Given the description of an element on the screen output the (x, y) to click on. 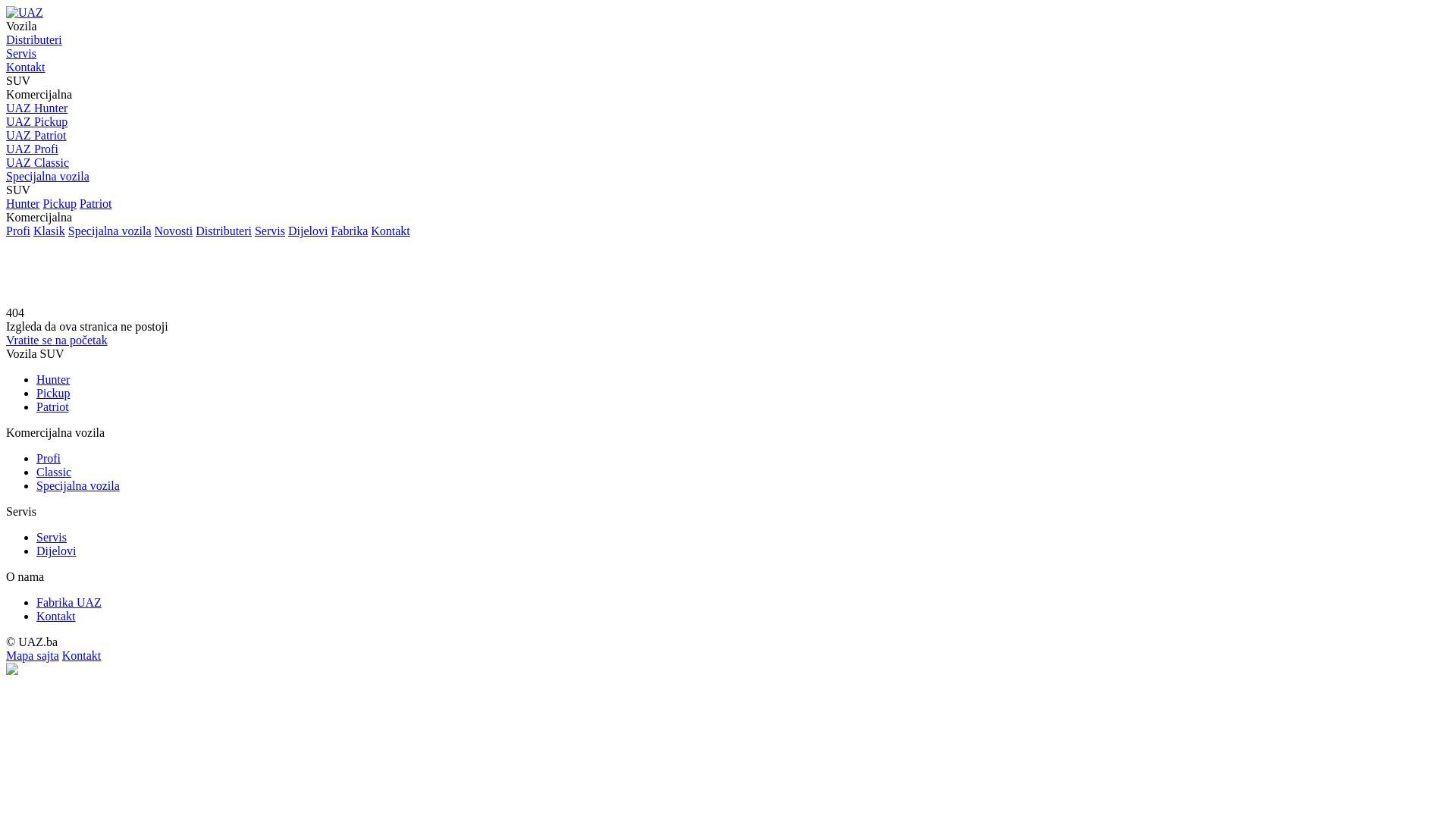
UAZ Hunter Element type: text (727, 108)
Specijalna vozila Element type: text (77, 485)
Dijelovi Element type: text (55, 550)
Kontakt Element type: text (55, 615)
UAZ Pickup Element type: text (727, 121)
Hunter Element type: text (22, 203)
Specijalna vozila Element type: text (727, 176)
UAZ Classic Element type: text (727, 162)
Specijalna vozila Element type: text (109, 230)
Patriot Element type: text (95, 203)
Dijelovi Element type: text (307, 230)
Hunter Element type: text (52, 379)
Kontakt Element type: text (390, 230)
Servis Element type: text (269, 230)
Distributeri Element type: text (223, 230)
Kontakt Element type: text (25, 66)
Fabrika UAZ Element type: text (68, 602)
Classic Element type: text (53, 471)
Patriot Element type: text (52, 406)
Servis Element type: text (21, 53)
Pickup Element type: text (52, 392)
Profi Element type: text (48, 457)
Klasik Element type: text (49, 230)
Novosti Element type: text (173, 230)
Distributeri Element type: text (34, 39)
Pickup Element type: text (58, 203)
Mapa sajta Element type: text (32, 655)
Profi Element type: text (18, 230)
UAZ Profi Element type: text (727, 149)
Kontakt Element type: text (81, 655)
Fabrika Element type: text (348, 230)
Servis Element type: text (51, 536)
UAZ Patriot Element type: text (727, 135)
